Given the description of an element on the screen output the (x, y) to click on. 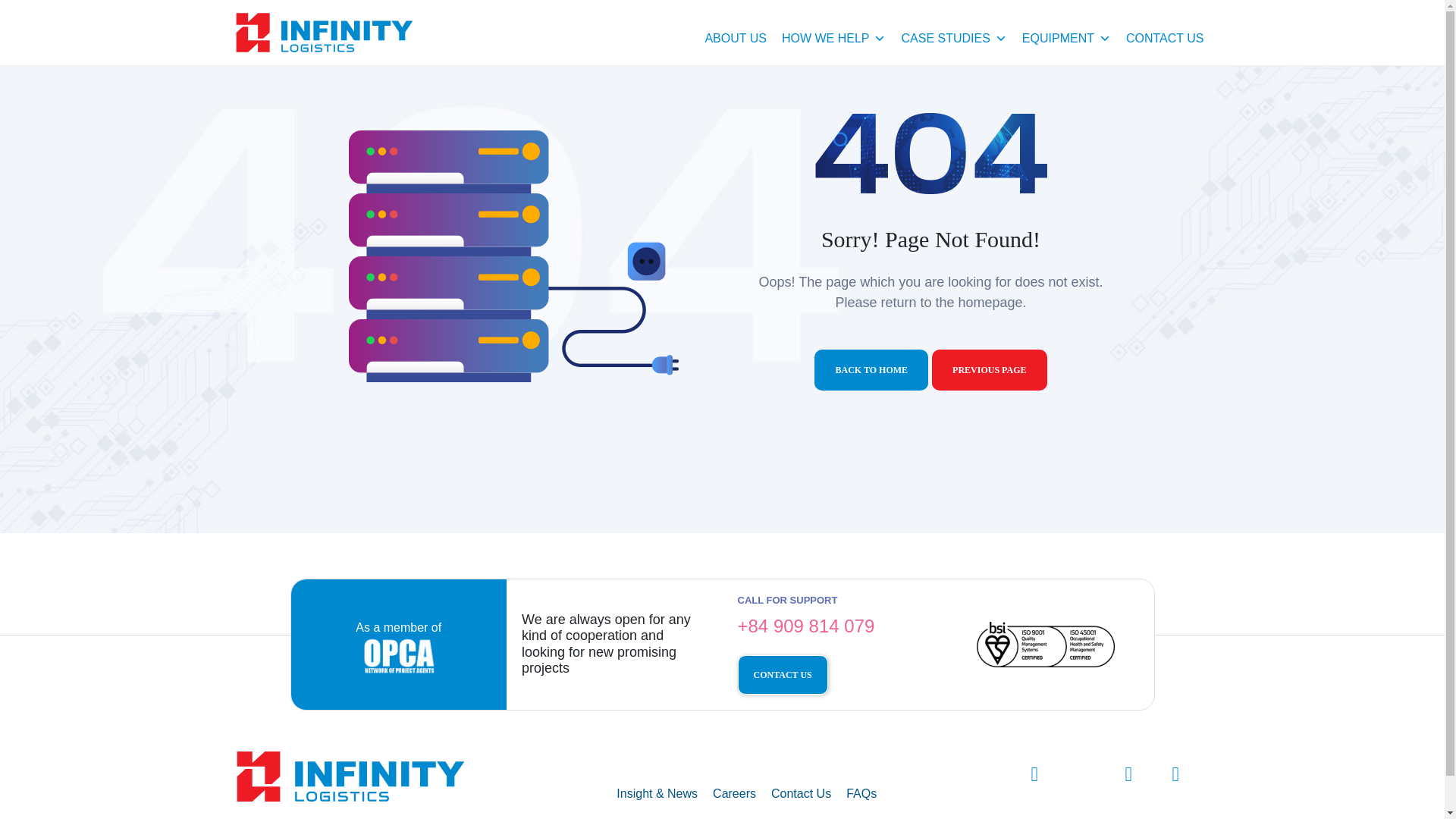
404 (513, 256)
opcawhitelogo copy (398, 654)
logo-color (350, 776)
TOP (1414, 783)
404 (929, 153)
iso9001-45001 (1045, 644)
